Given the description of an element on the screen output the (x, y) to click on. 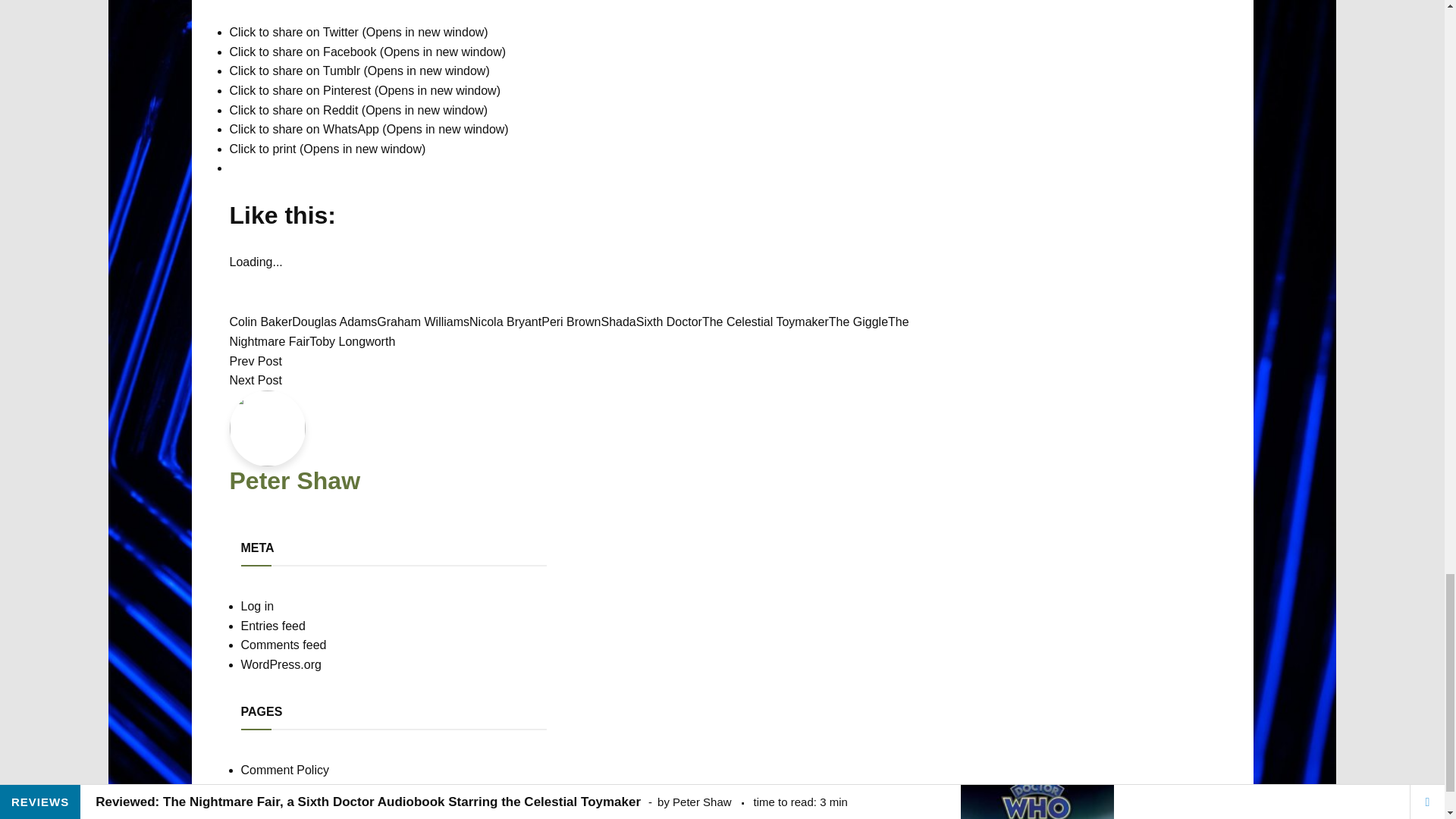
Click to share on Tumblr (358, 70)
Click to share on WhatsApp (368, 128)
Click to share on Facebook (366, 51)
Click to share on Reddit (357, 110)
Click to share on Twitter (357, 31)
Click to print (326, 148)
Click to share on Pinterest (364, 90)
